Given the description of an element on the screen output the (x, y) to click on. 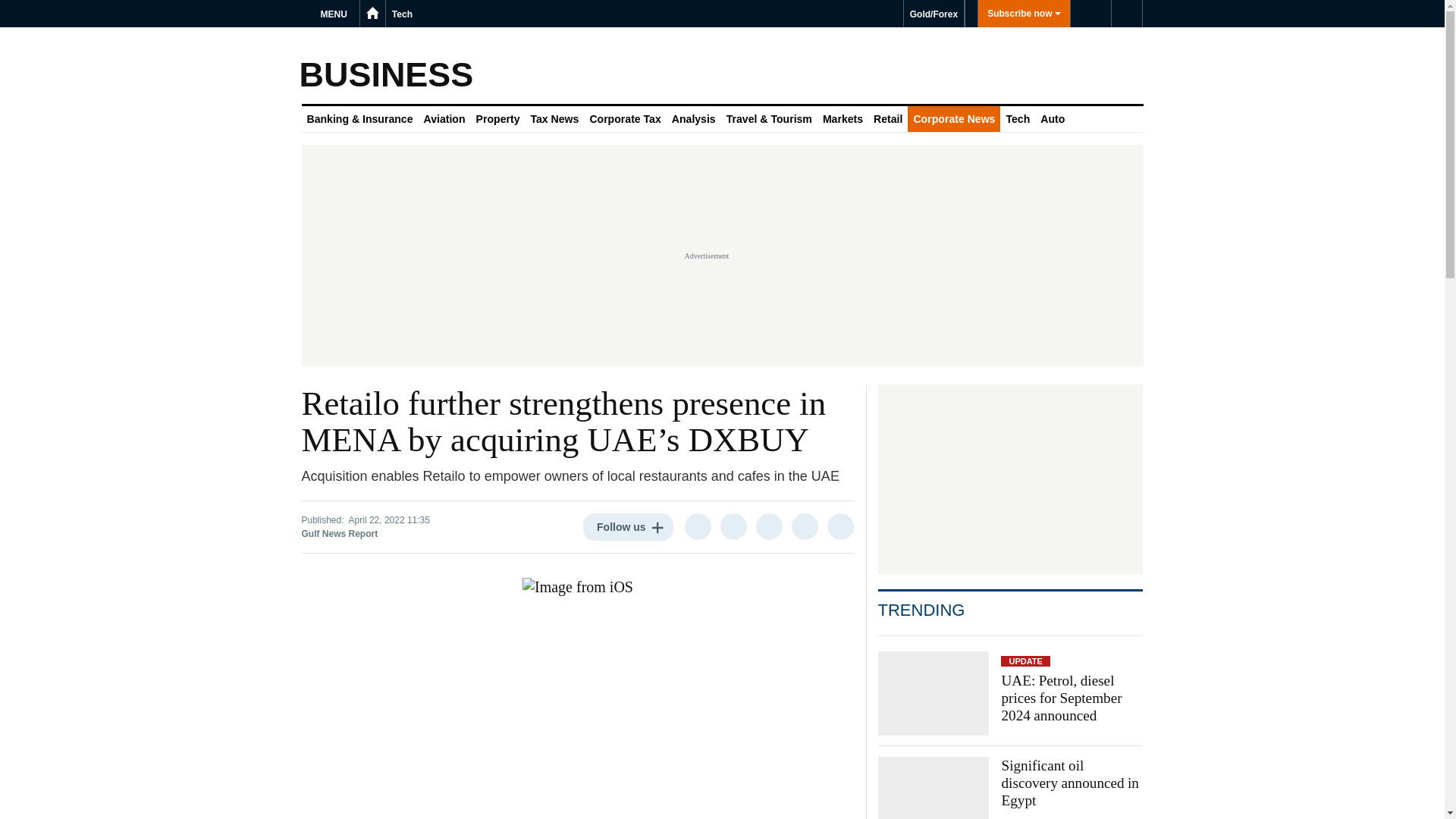
Subscribe now (1024, 13)
MENU (336, 13)
Tech (402, 13)
